Given the description of an element on the screen output the (x, y) to click on. 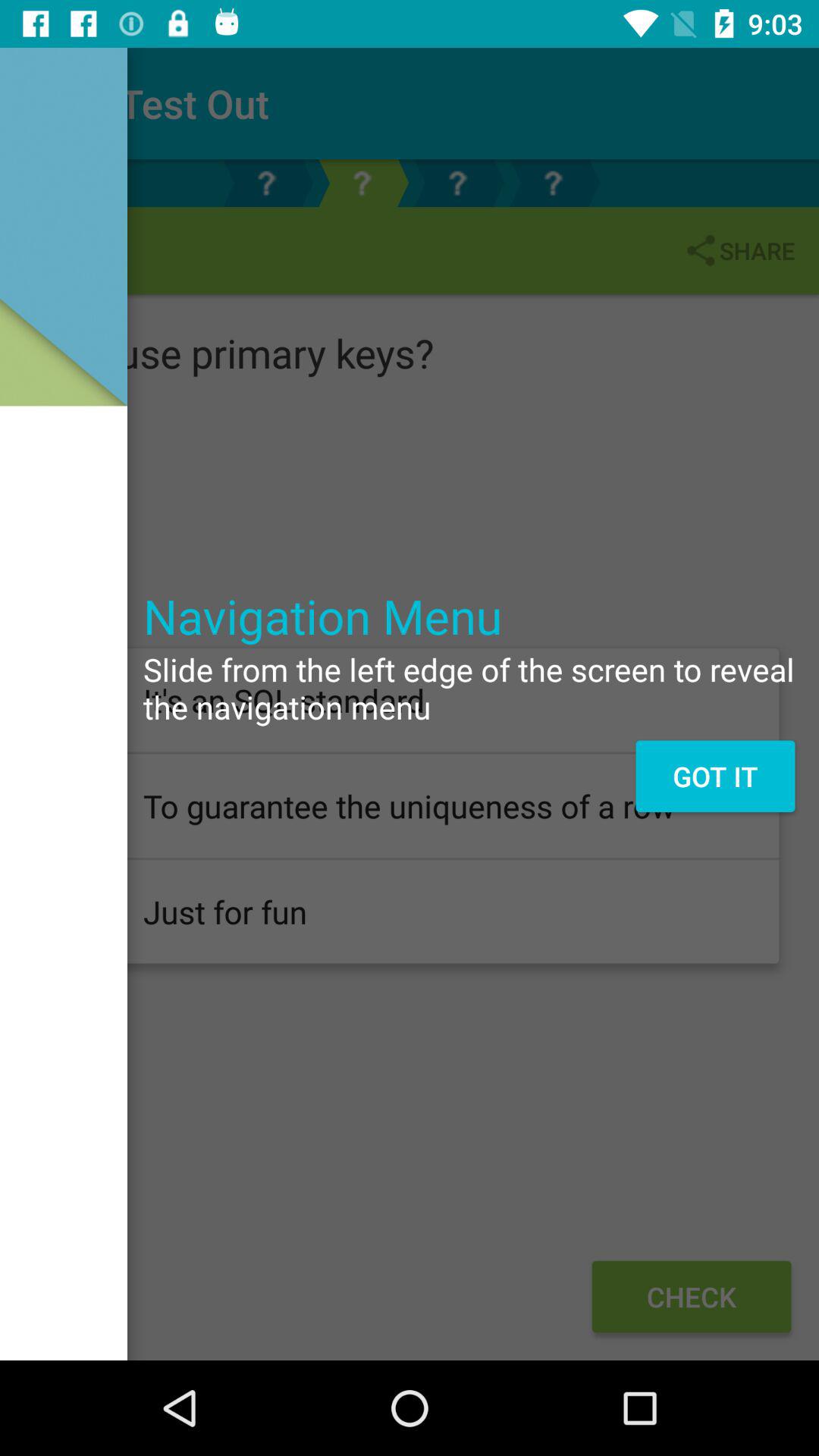
click got it (715, 776)
